Given the description of an element on the screen output the (x, y) to click on. 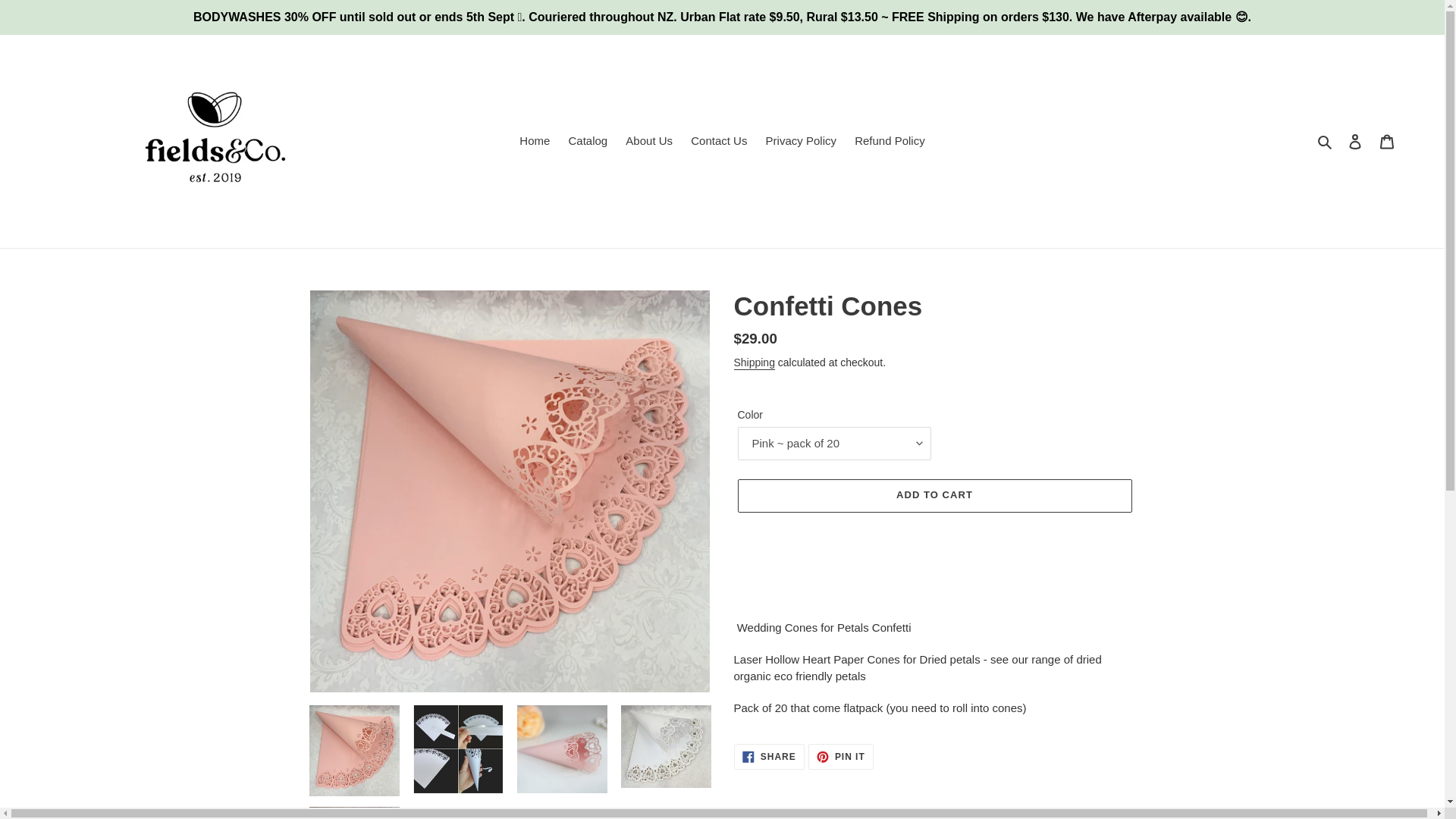
Contact Us (718, 141)
Log in (769, 756)
Privacy Policy (1355, 141)
Shipping (801, 141)
Refund Policy (840, 756)
ADD TO CART (753, 363)
Cart (890, 141)
About Us (933, 495)
